Given the description of an element on the screen output the (x, y) to click on. 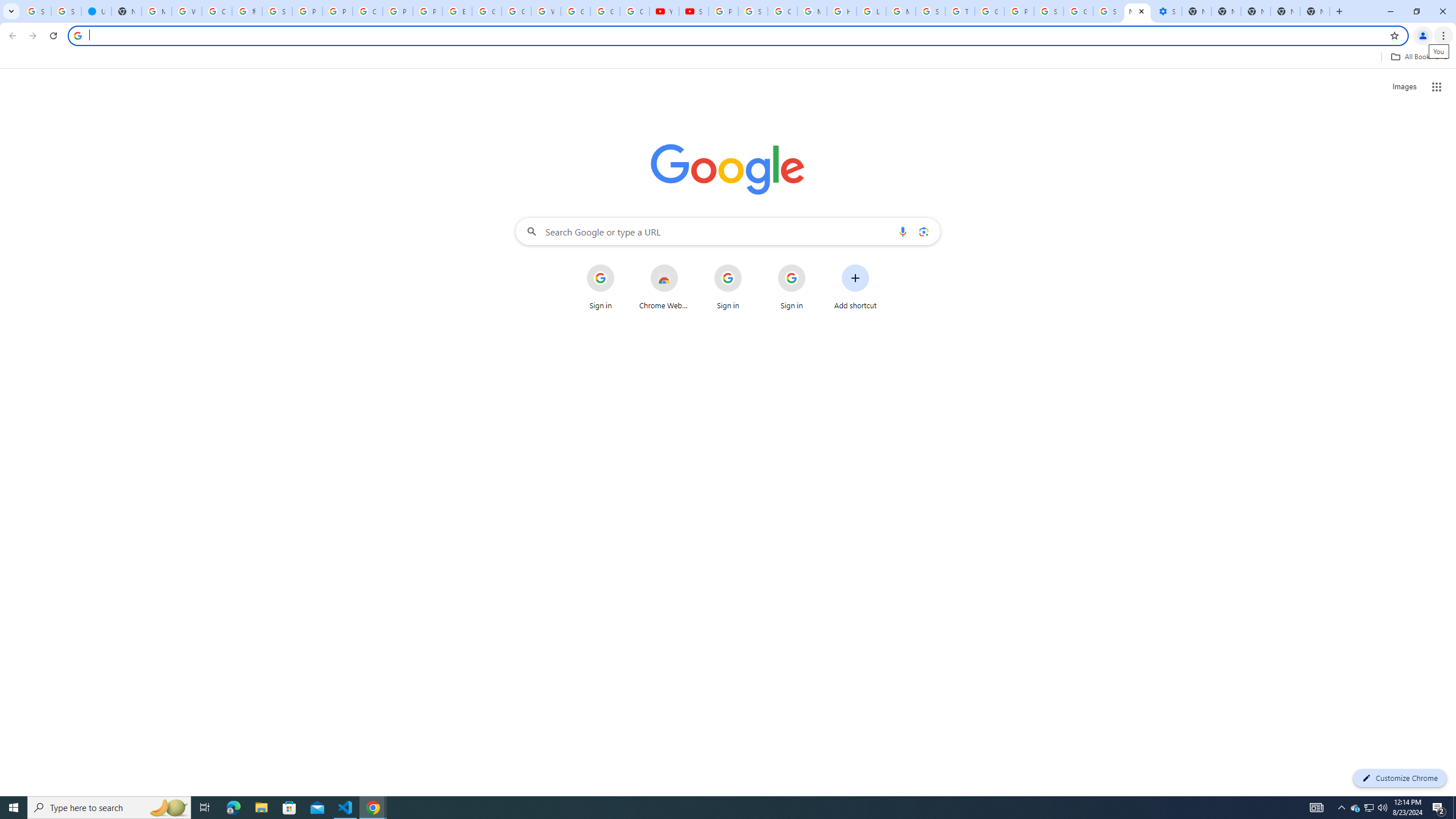
Search by voice (902, 230)
Google Ads - Sign in (989, 11)
New Tab (1284, 11)
